Given the description of an element on the screen output the (x, y) to click on. 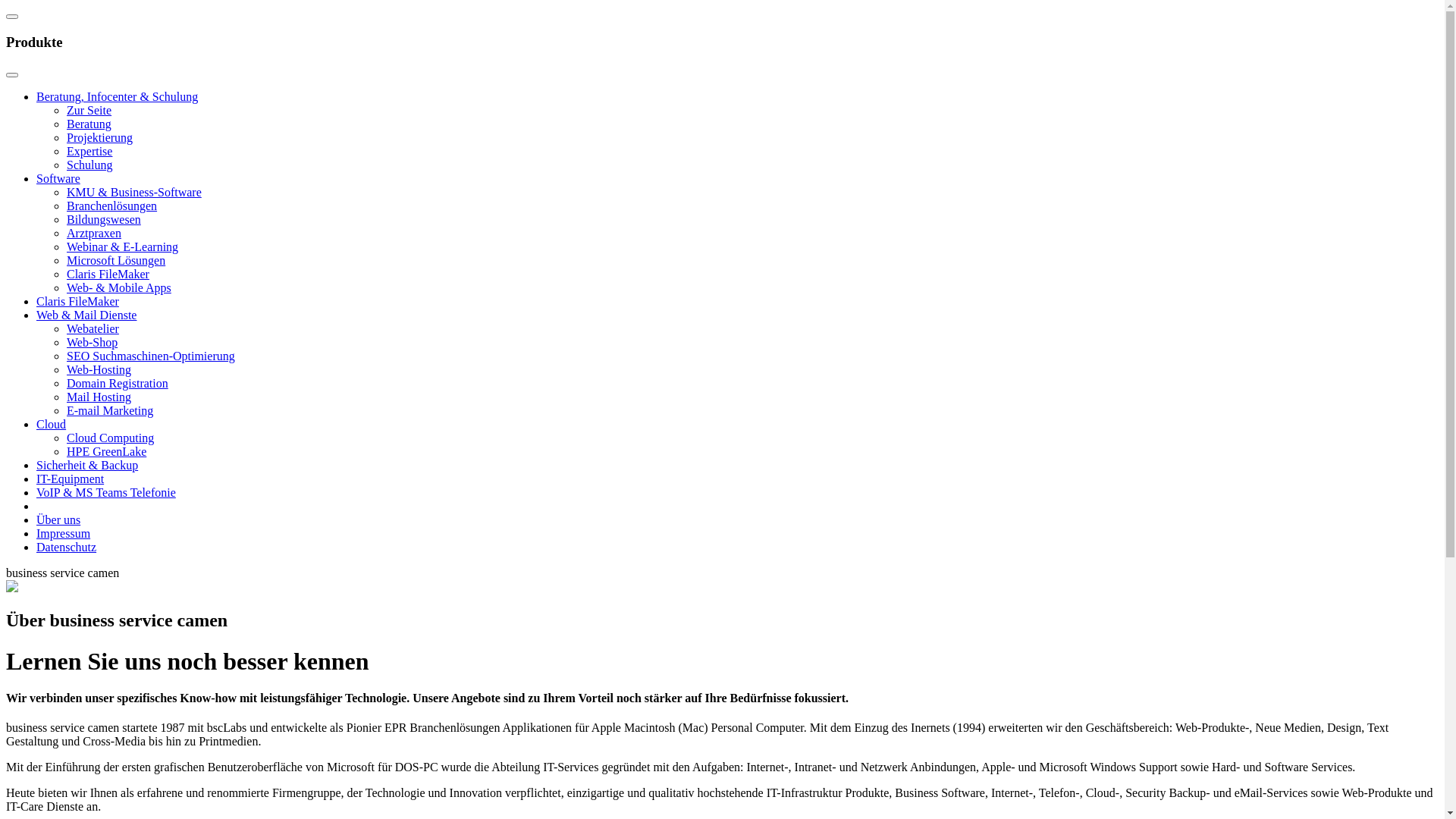
VoIP & MS Teams Telefonie Element type: text (105, 492)
Bildungswesen Element type: text (103, 219)
IT-Equipment Element type: text (69, 478)
Impressum Element type: text (63, 533)
Web-Shop Element type: text (91, 341)
Zur Seite Element type: text (88, 109)
KMU & Business-Software Element type: text (133, 191)
Seitenanfang Element type: hover (12, 16)
Mail Hosting Element type: text (98, 396)
Software Element type: text (58, 178)
HPE GreenLake Element type: text (106, 451)
Claris FileMaker Element type: text (77, 300)
Cloud Element type: text (50, 423)
Web- & Mobile Apps Element type: text (118, 287)
E-mail Marketing Element type: text (109, 410)
Datenschutz Element type: text (66, 546)
Web-Hosting Element type: text (98, 369)
Webatelier Element type: text (92, 328)
Cloud Computing Element type: text (109, 437)
Claris FileMaker Element type: text (107, 273)
Schulung Element type: text (89, 164)
Sicherheit & Backup Element type: text (87, 464)
Projektierung Element type: text (99, 137)
Webinar & E-Learning Element type: text (122, 246)
Expertise Element type: text (89, 150)
Web & Mail Dienste Element type: text (86, 314)
Domain Registration Element type: text (117, 382)
Beratung Element type: text (88, 123)
Arztpraxen Element type: text (93, 232)
Beratung, Infocenter & Schulung Element type: text (116, 96)
SEO Suchmaschinen-Optimierung Element type: text (150, 355)
